Given the description of an element on the screen output the (x, y) to click on. 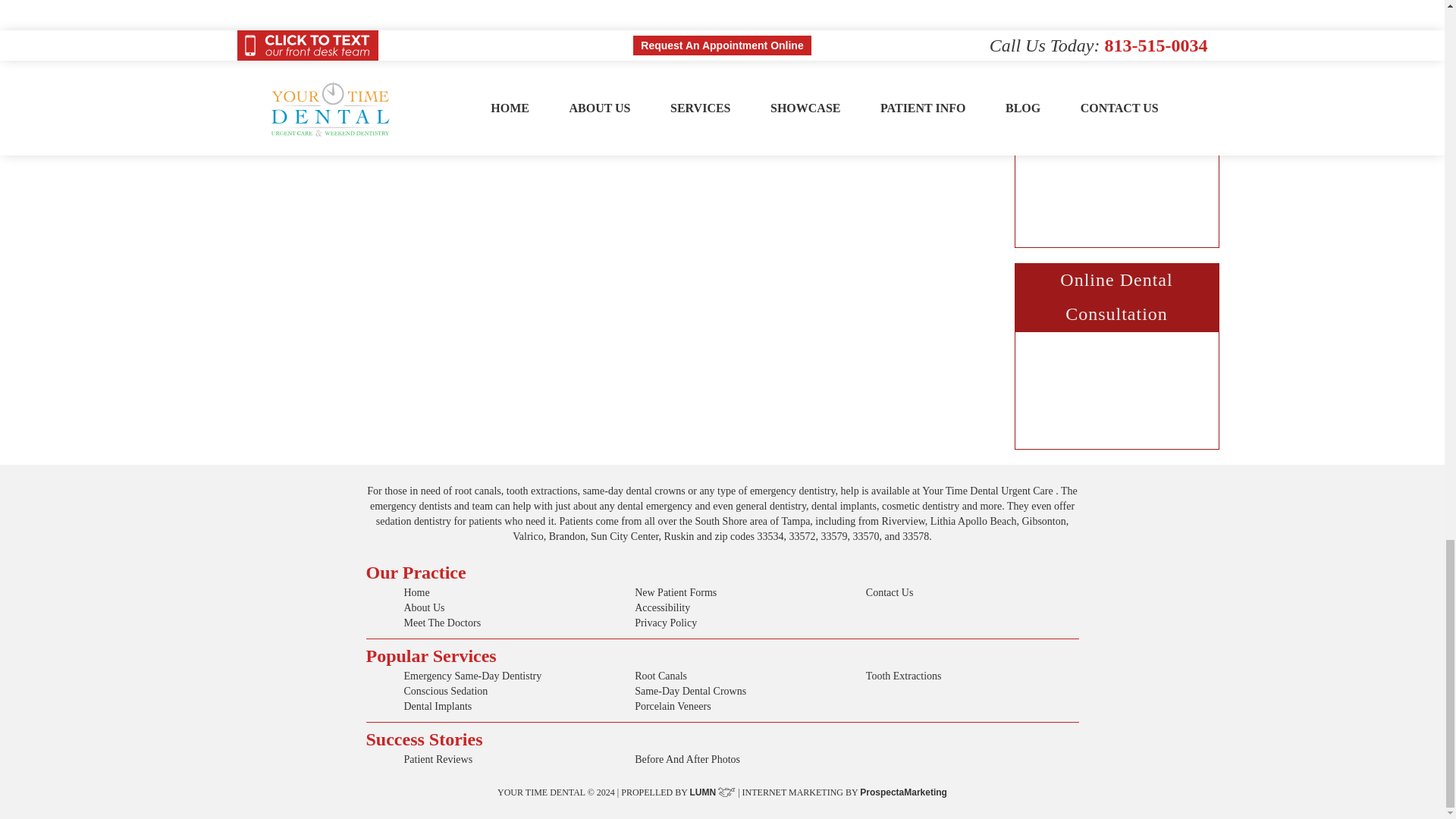
Internet Dental Marketing (903, 792)
